Given the description of an element on the screen output the (x, y) to click on. 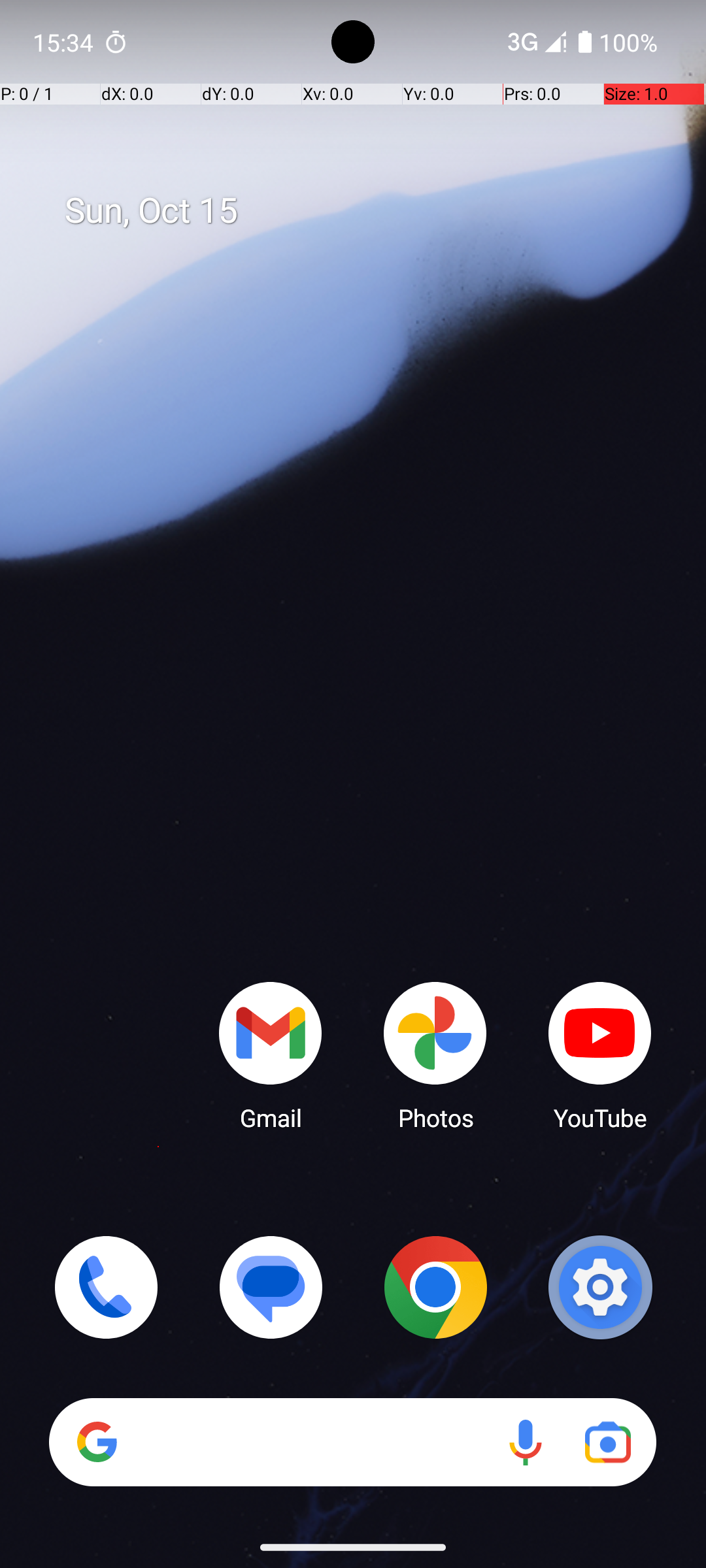
Settings Element type: android.widget.TextView (599, 1287)
Sun, Oct 15 Element type: android.widget.TextView (366, 210)
